Given the description of an element on the screen output the (x, y) to click on. 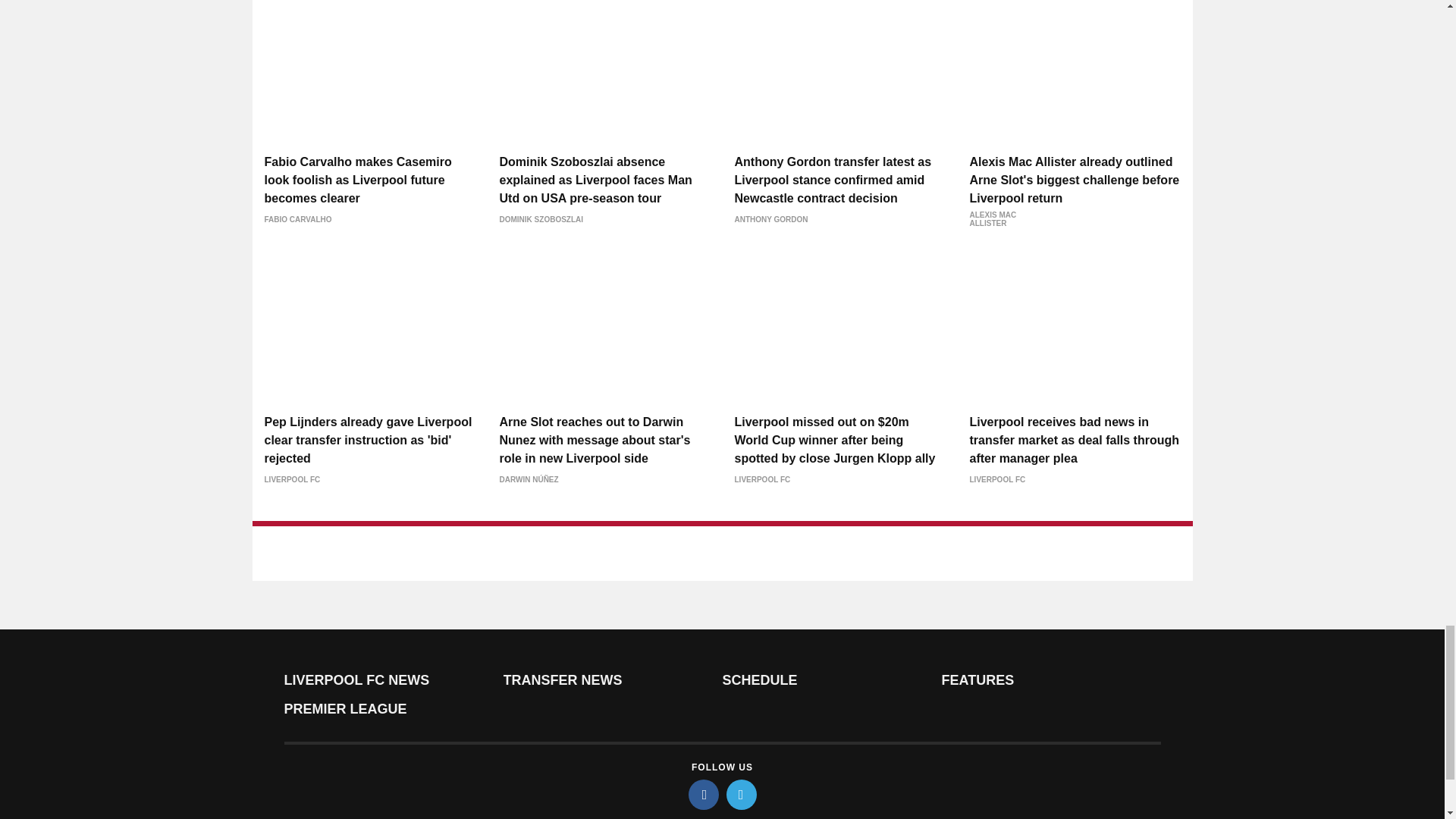
twitter (741, 794)
facebook (703, 794)
